Given the description of an element on the screen output the (x, y) to click on. 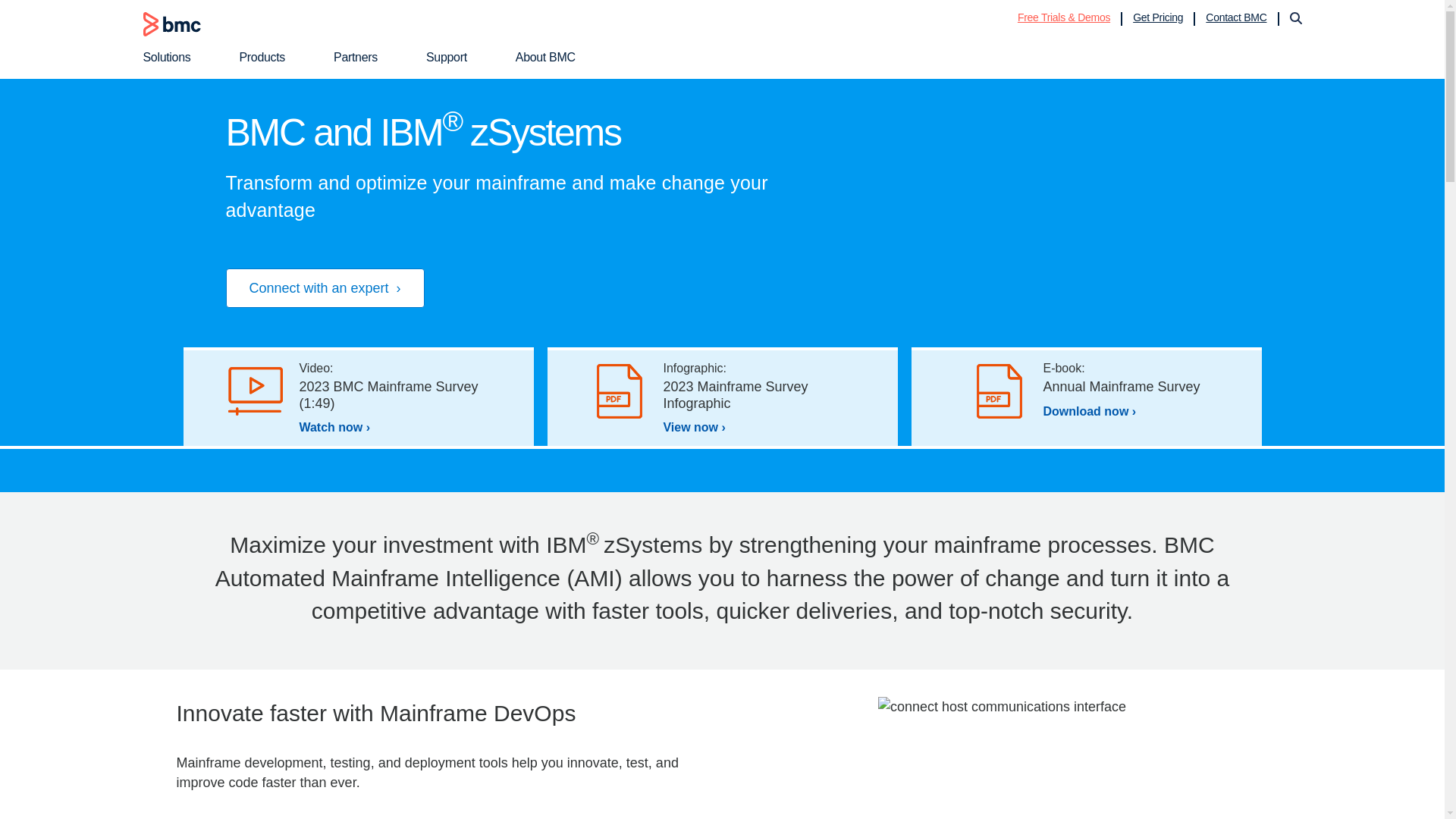
Get Pricing (1157, 17)
Products (270, 56)
About BMC (554, 56)
Support (455, 56)
Solutions (175, 56)
Contact BMC (1235, 17)
Partners (364, 56)
